Given the description of an element on the screen output the (x, y) to click on. 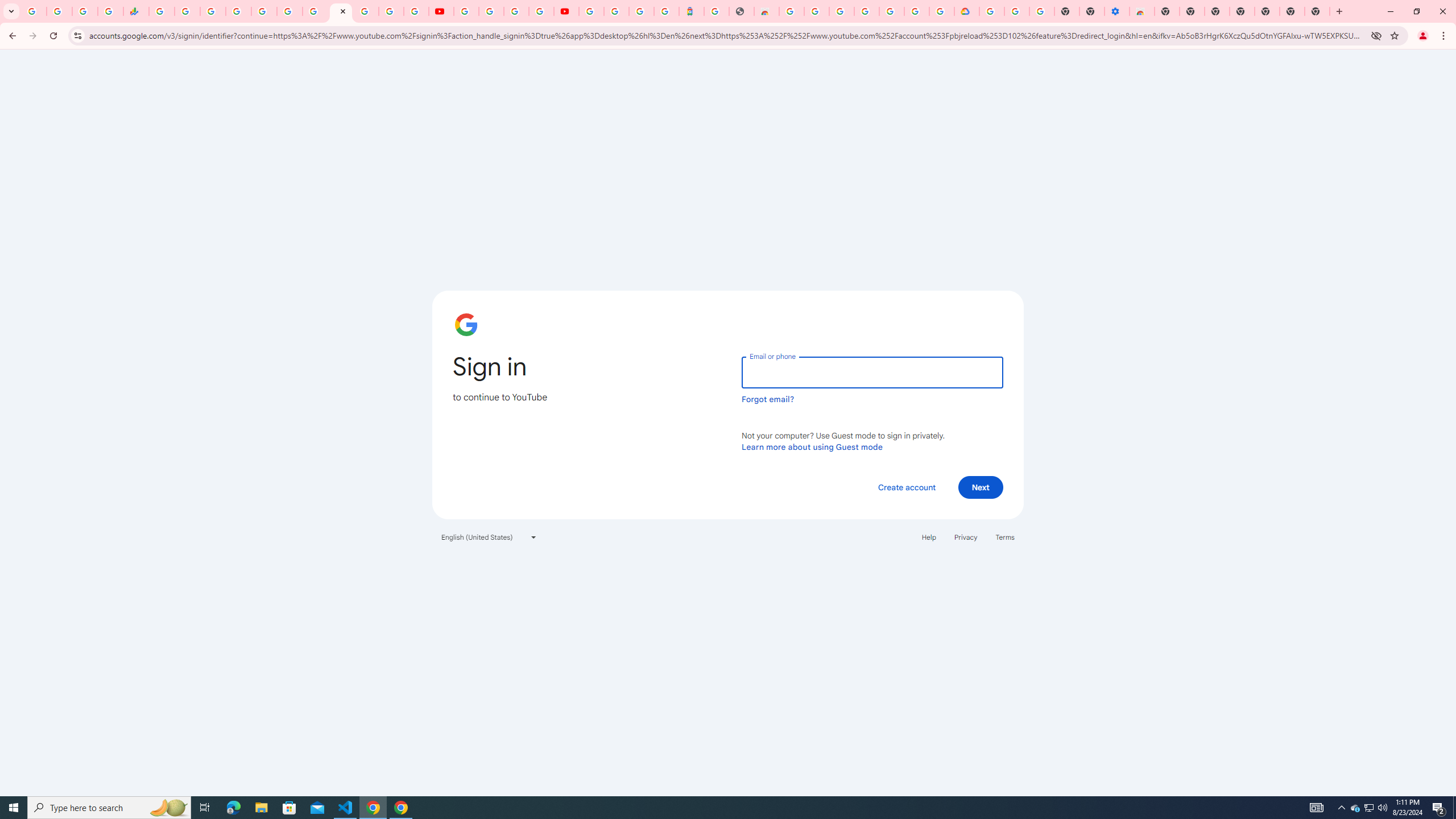
Privacy Checkup (415, 11)
Chrome Web Store - Accessibility extensions (1141, 11)
Learn more about using Guest mode (812, 446)
Sign in - Google Accounts (991, 11)
Sign in - Google Accounts (365, 11)
Forgot email? (767, 398)
Sign in - Google Accounts (616, 11)
